Given the description of an element on the screen output the (x, y) to click on. 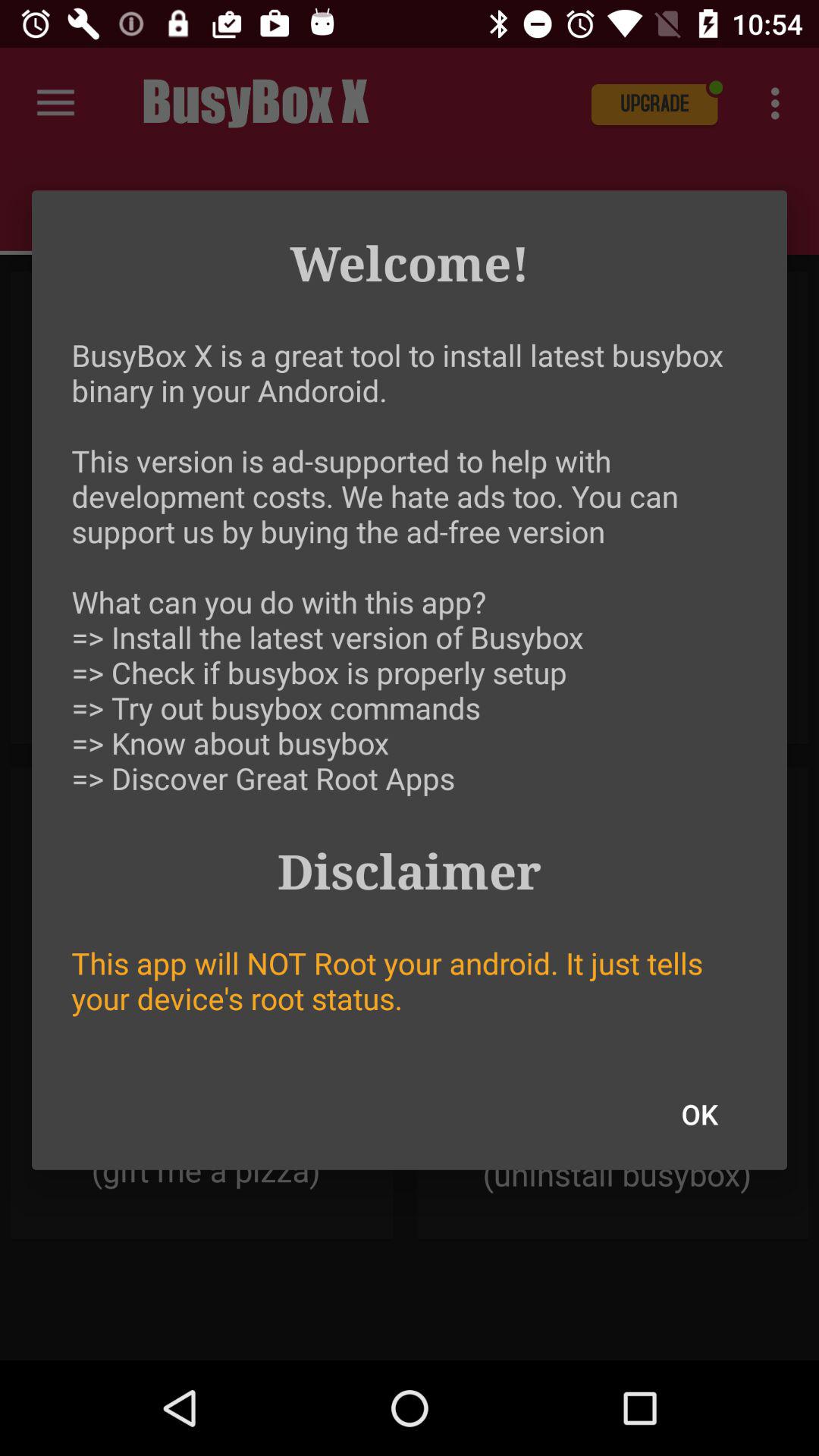
jump to ok item (699, 1113)
